Given the description of an element on the screen output the (x, y) to click on. 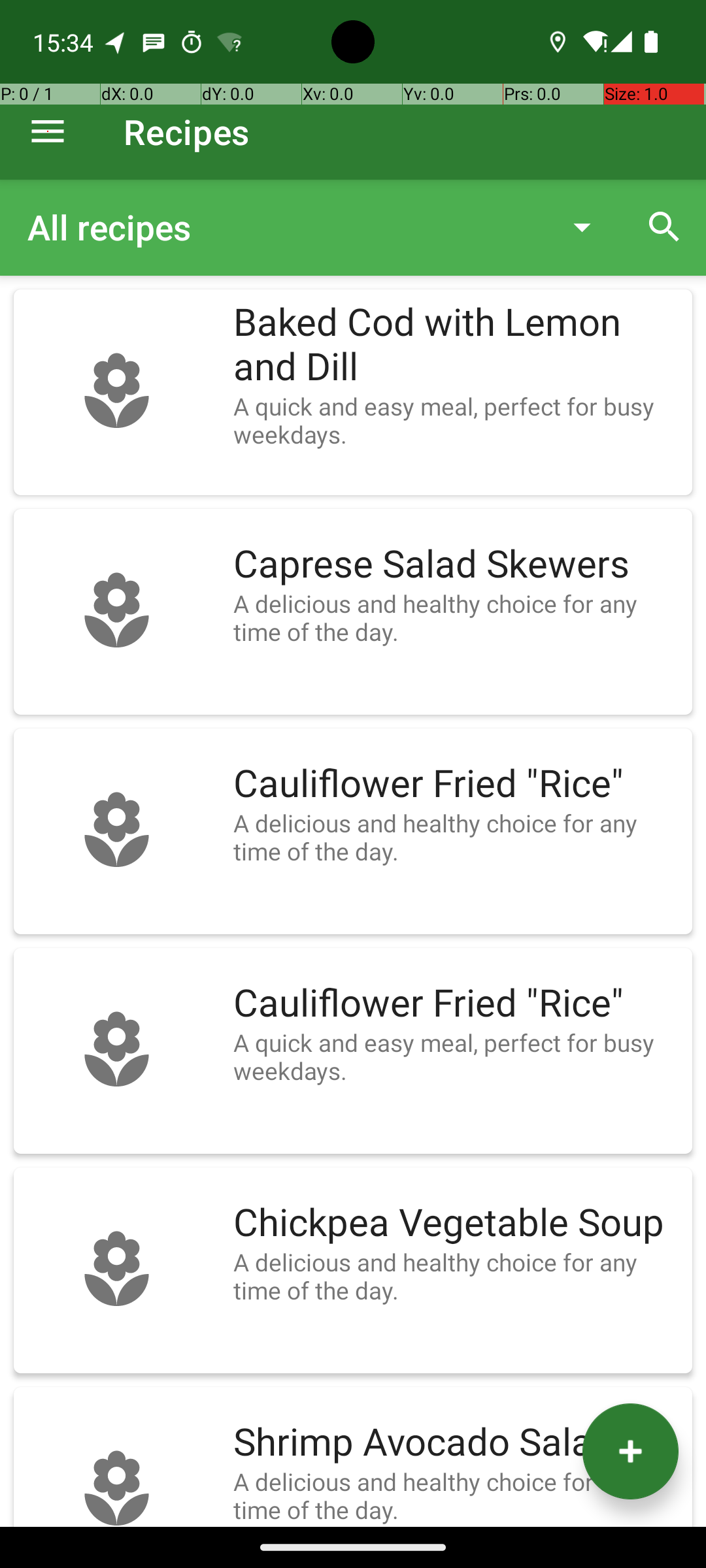
Shrimp Avocado Salad Element type: android.widget.TextView (455, 1442)
